Given the description of an element on the screen output the (x, y) to click on. 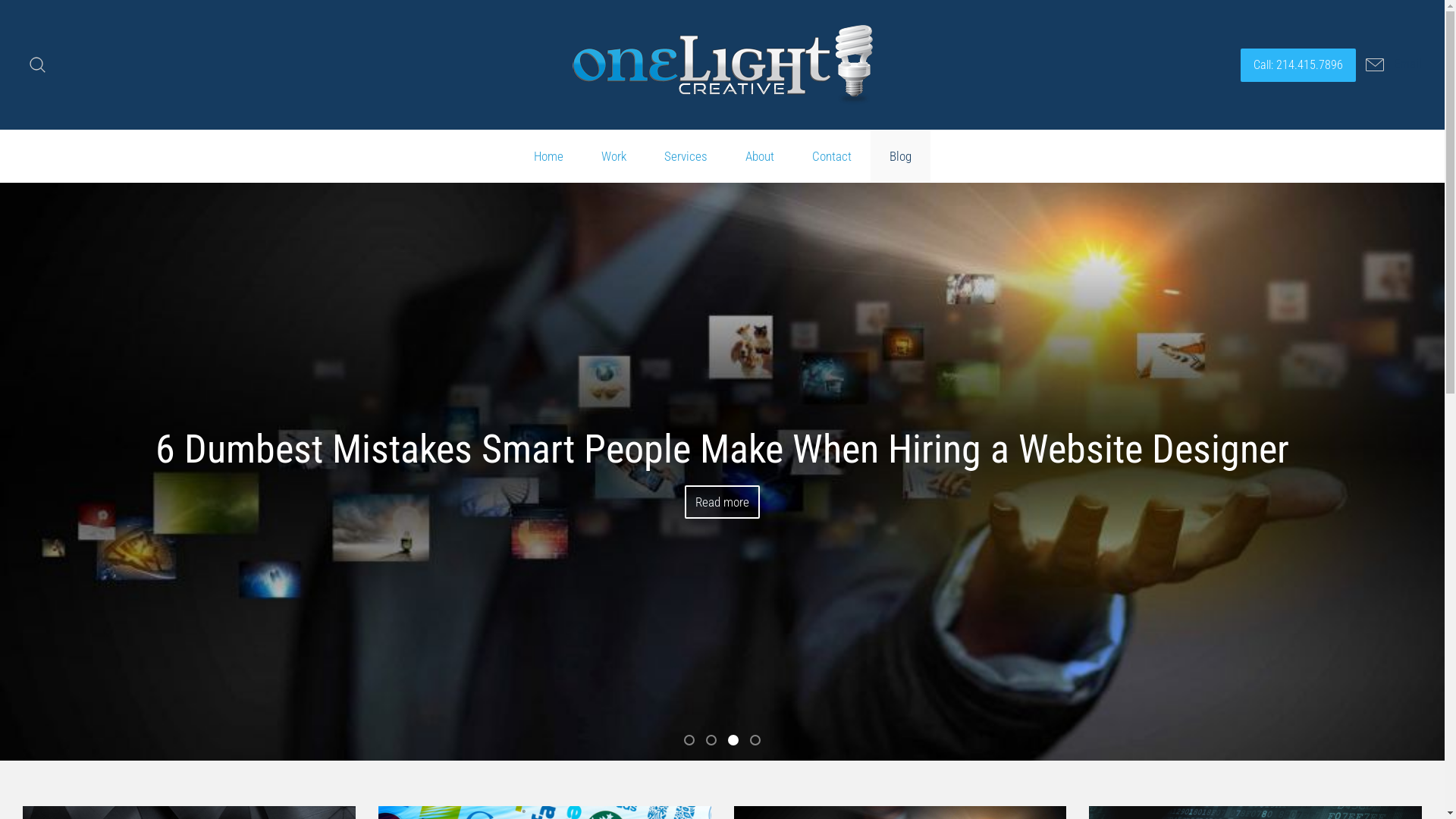
Email Element type: text (1388, 63)
About Element type: text (759, 155)
Call: 214.415.7896 Element type: text (1297, 64)
Services Element type: text (684, 155)
Blog Element type: text (900, 155)
Home Element type: text (547, 155)
Read more Element type: text (721, 501)
The Inconvenient Truth About SEO Element type: text (754, 739)
Contact Element type: text (831, 155)
The Measures Of Brand Equity Element type: text (689, 739)
Work Element type: text (613, 155)
Defining and Measuring Brand Equity Element type: text (711, 739)
